Given the description of an element on the screen output the (x, y) to click on. 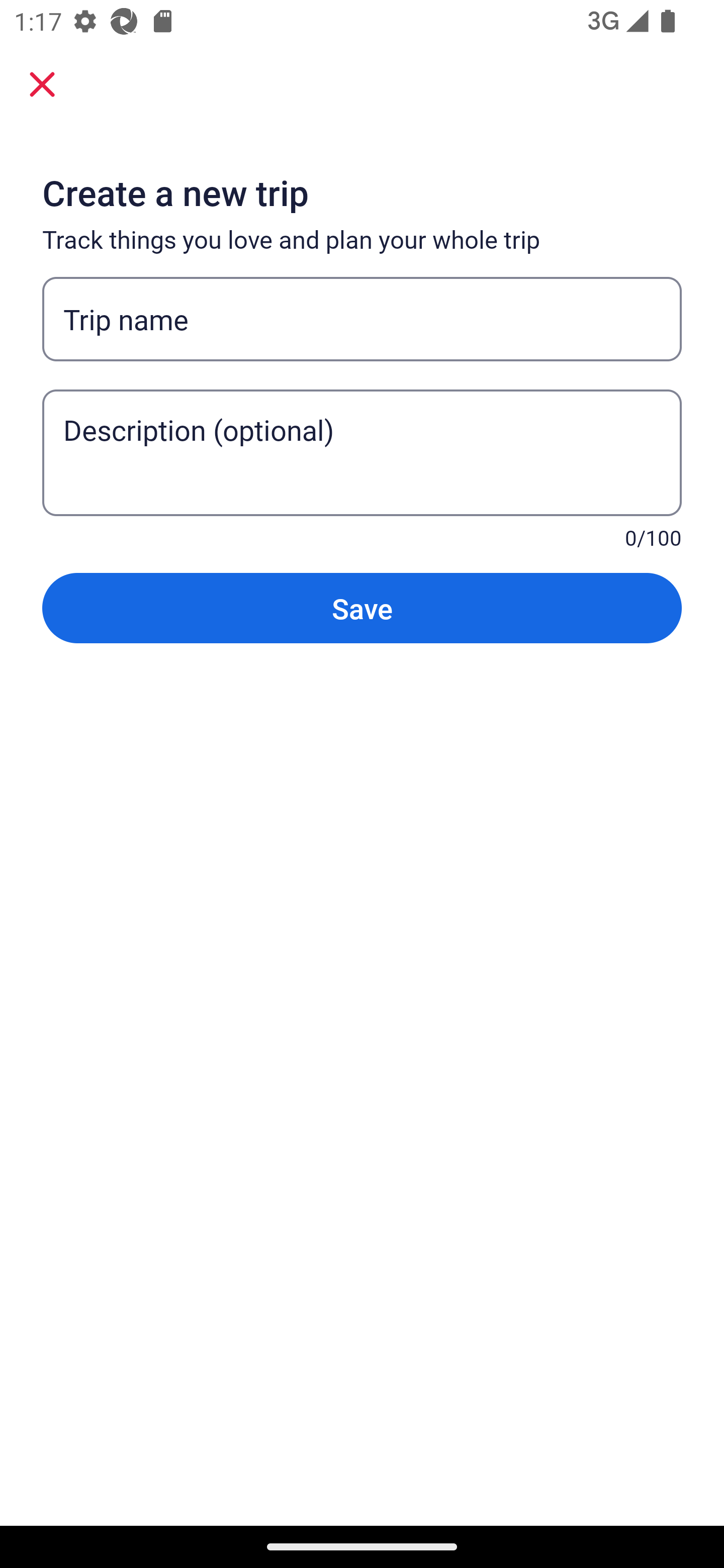
Close (42, 84)
Trip name (361, 318)
Save Button Save (361, 607)
